Given the description of an element on the screen output the (x, y) to click on. 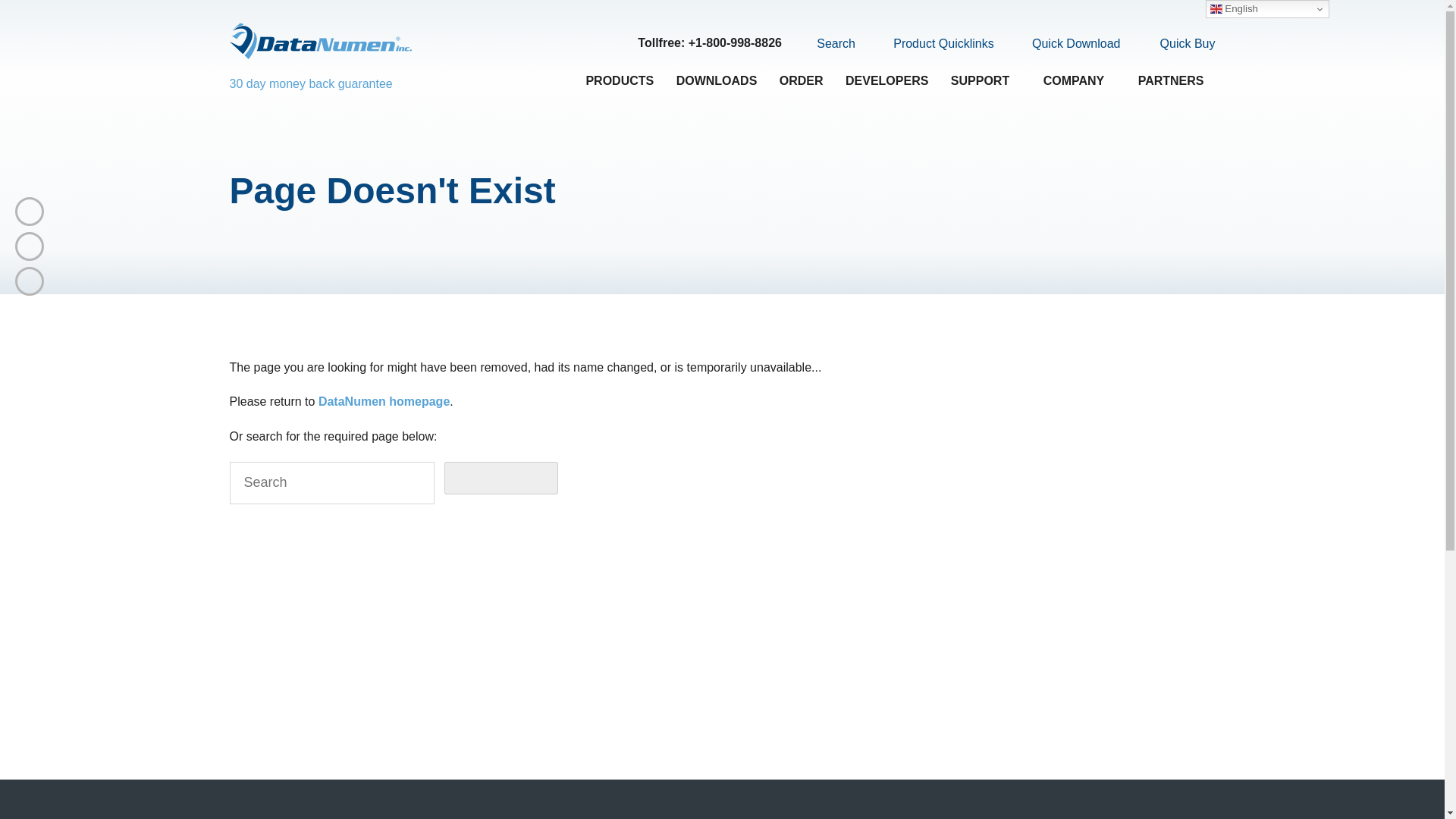
Product Quicklinks (934, 44)
Search for: (330, 482)
Search (827, 43)
Quick Download (1066, 44)
